Given the description of an element on the screen output the (x, y) to click on. 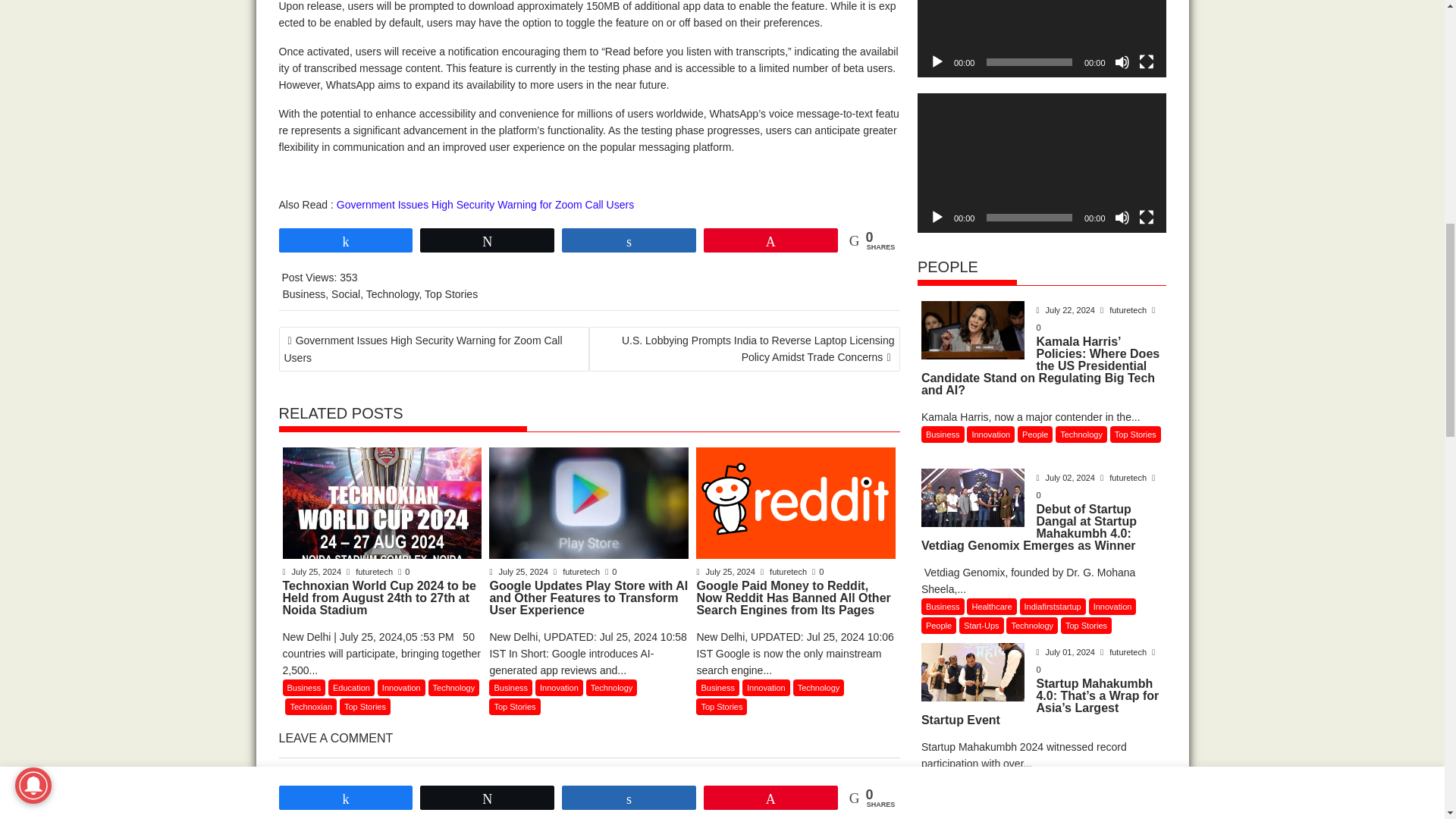
futuretech (577, 571)
futuretech (370, 571)
